Given the description of an element on the screen output the (x, y) to click on. 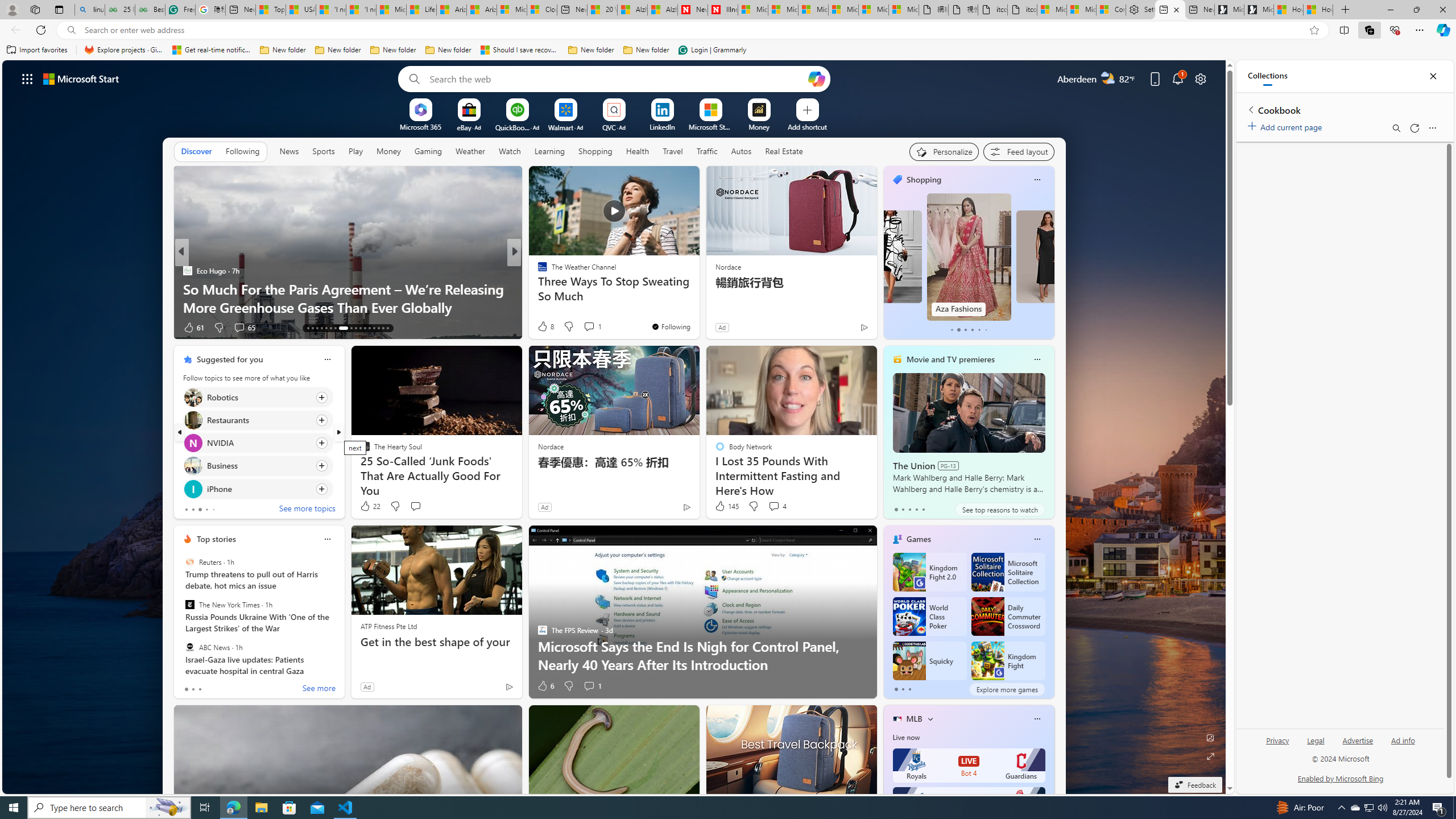
Edit Background (1210, 737)
12 Healthy Habits That Could Help You Live Longer (697, 307)
View comments 10 Comment (597, 327)
Cloud Computing Services | Microsoft Azure (542, 9)
View comments 65 Comment (238, 327)
New folder (646, 49)
Search icon (70, 29)
